Given the description of an element on the screen output the (x, y) to click on. 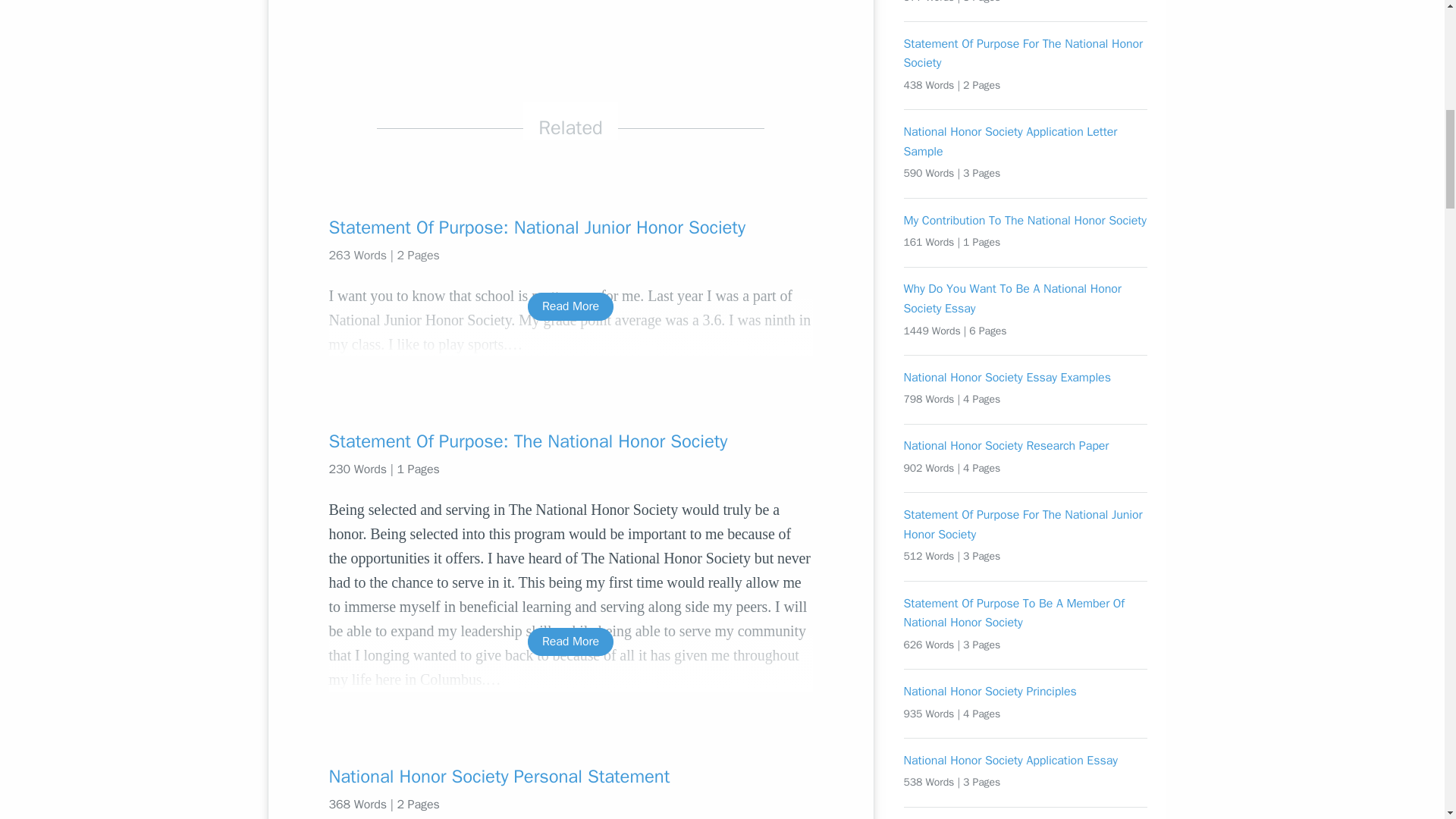
Read More (569, 642)
Read More (569, 306)
National Honor Society Personal Statement (570, 776)
Statement Of Purpose: The National Honor Society (570, 441)
Statement Of Purpose: National Junior Honor Society (570, 227)
